Given the description of an element on the screen output the (x, y) to click on. 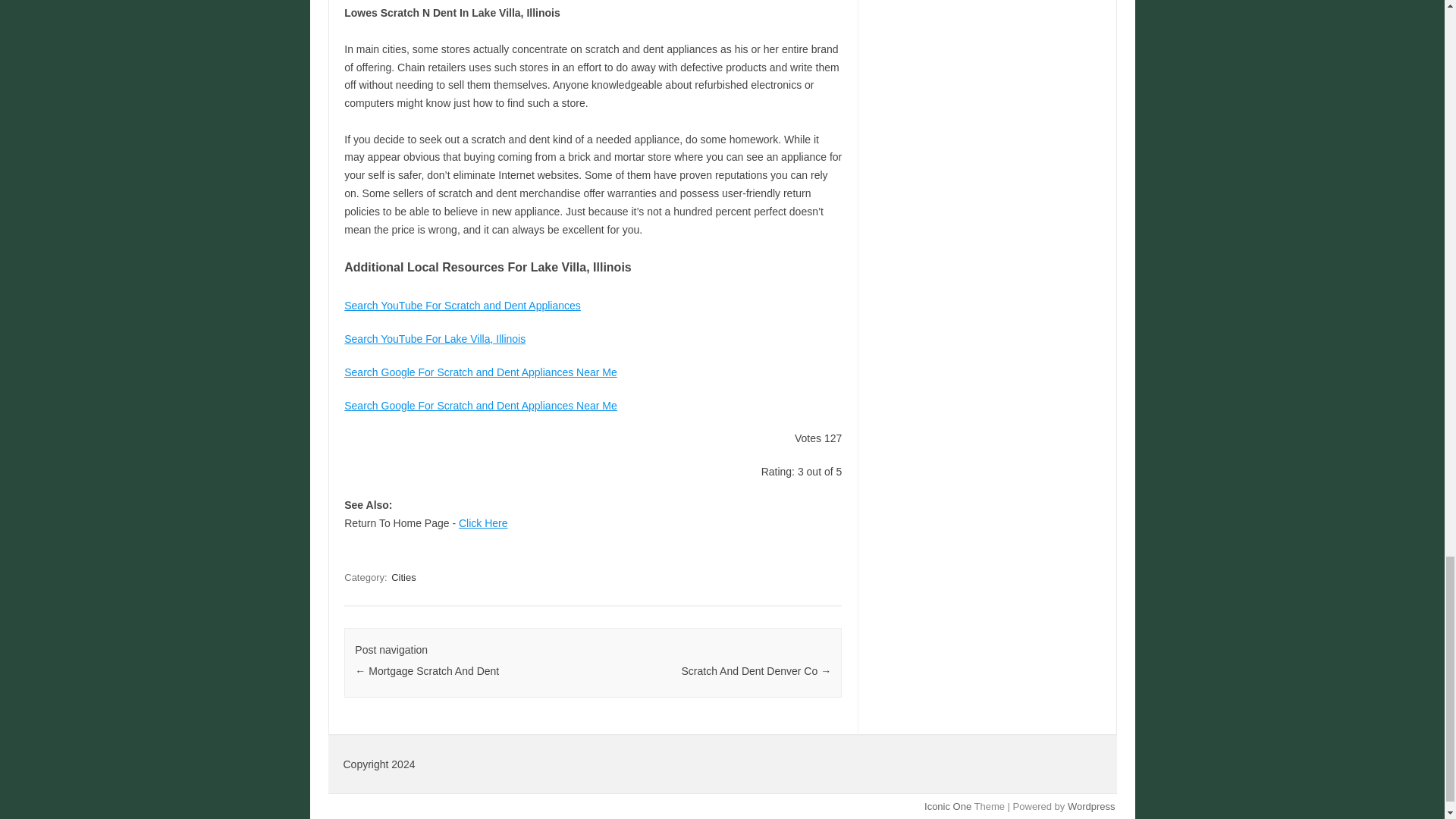
Click Here (483, 522)
Search Google For Scratch and Dent Appliances Near Me (480, 405)
Search YouTube For Lake Villa, Illinois (434, 338)
Search Google For Scratch and Dent Appliances Near Me (480, 372)
Cities (403, 577)
Search YouTube For Scratch and Dent Appliances (461, 305)
